Given the description of an element on the screen output the (x, y) to click on. 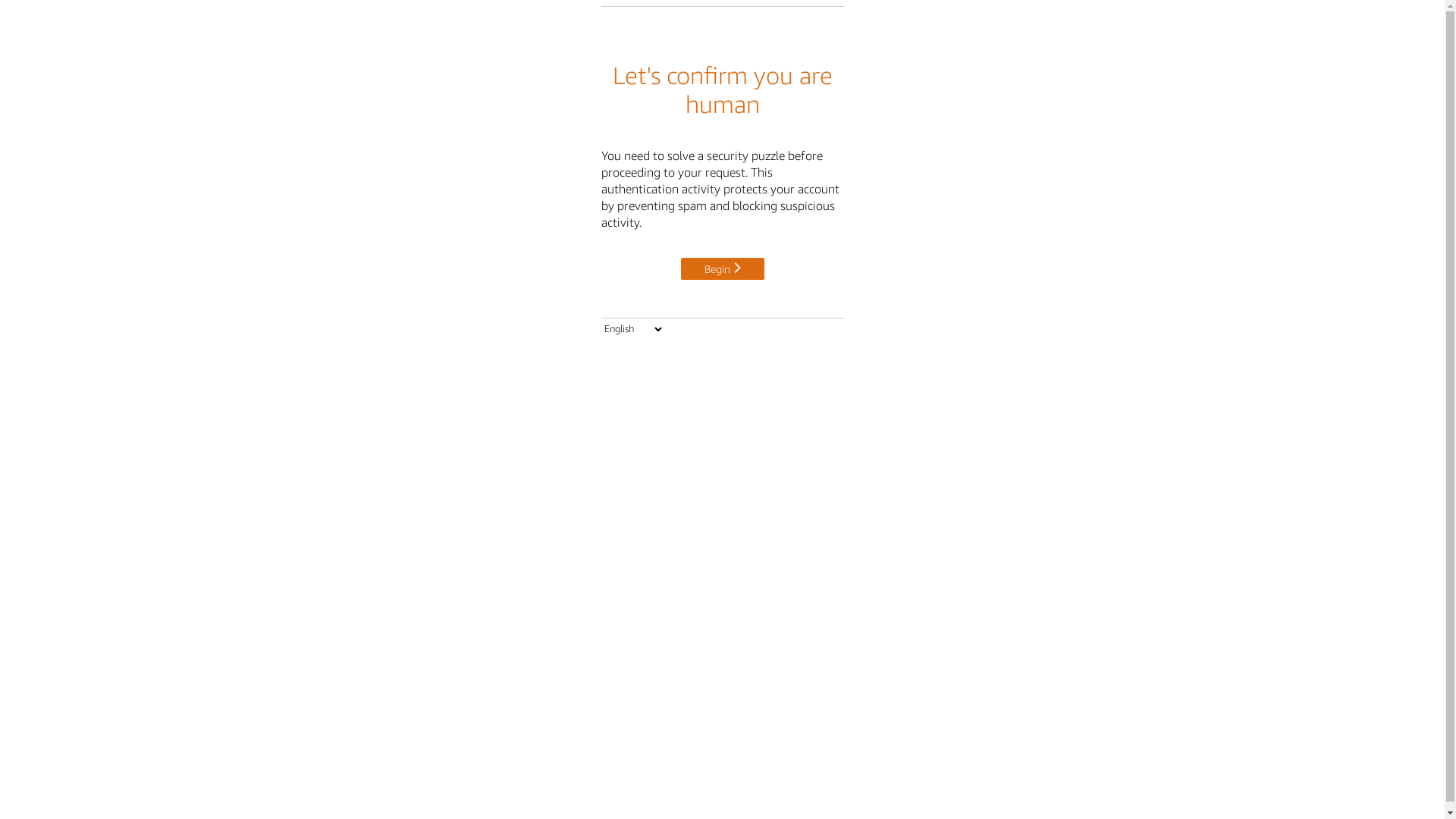
Begin Element type: text (722, 268)
